Given the description of an element on the screen output the (x, y) to click on. 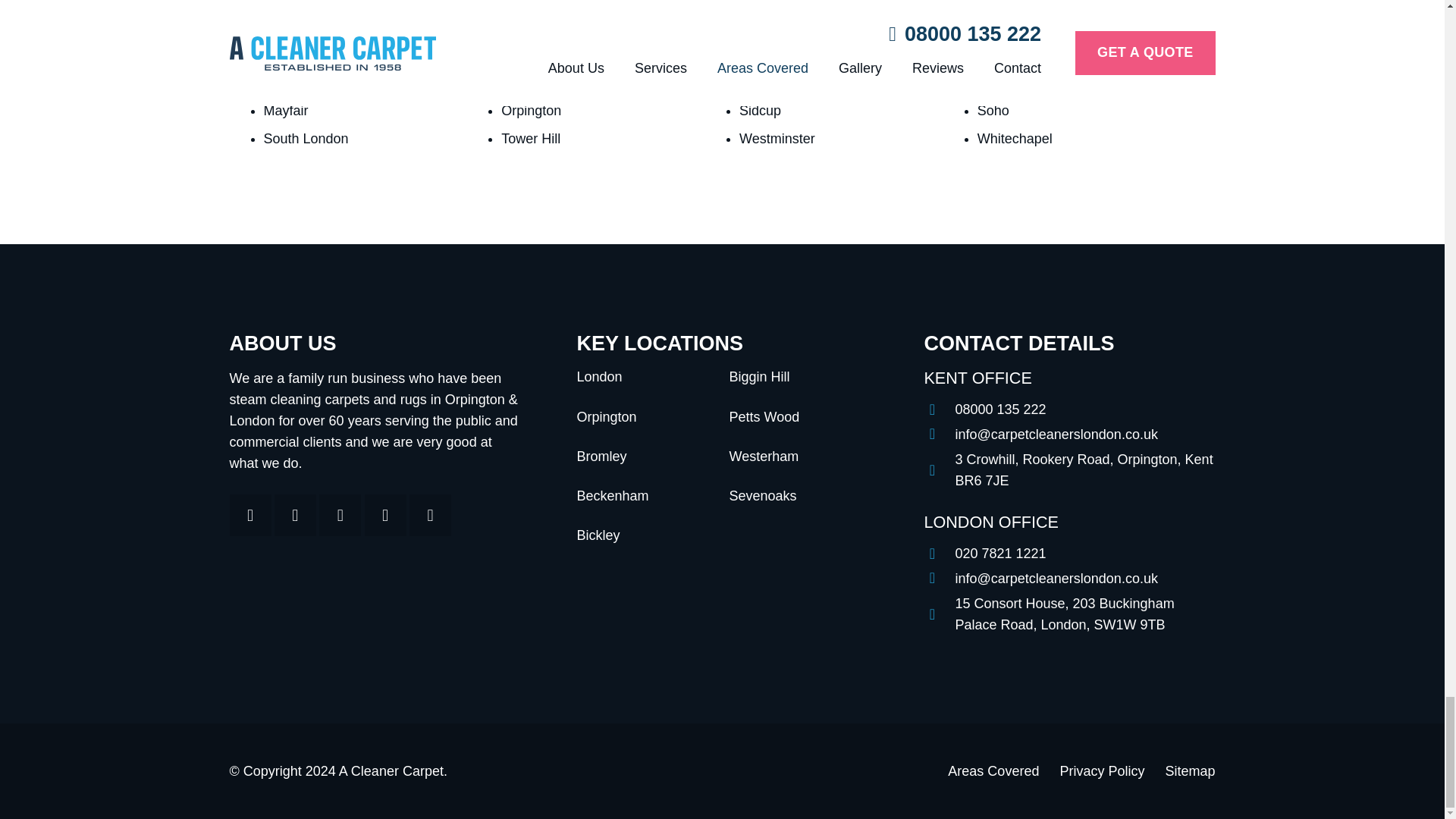
Facebook (249, 515)
Pinterest (339, 515)
LinkedIn (385, 515)
Twitter (295, 515)
YouTube (430, 515)
